Given the description of an element on the screen output the (x, y) to click on. 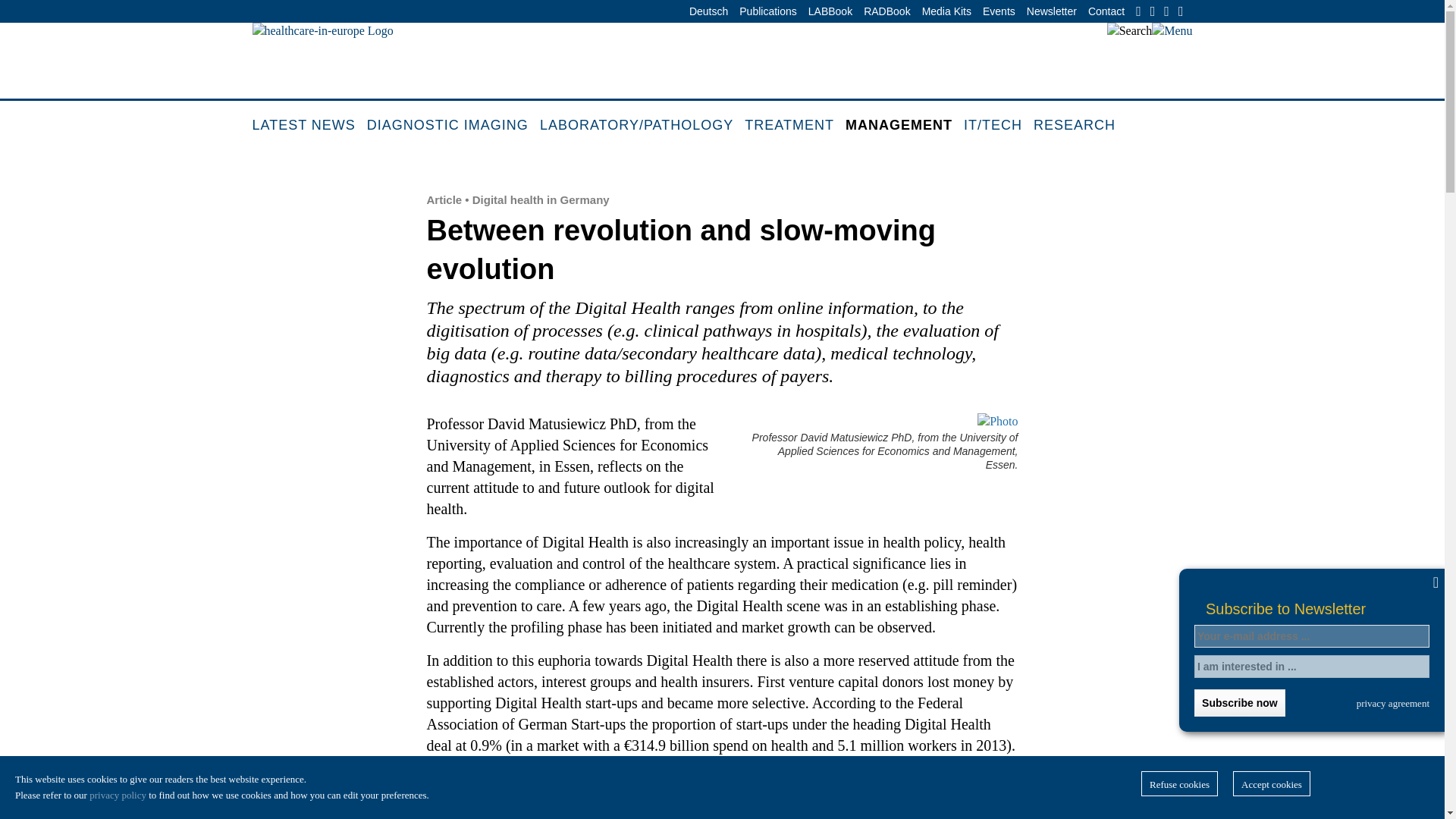
TREATMENT (794, 126)
Media Kits (946, 12)
Contact (1106, 12)
Twitter-Feed (1155, 11)
Vimeo-Kanal (1168, 11)
RESEARCH (1079, 126)
MANAGEMENT (904, 126)
Newsletter (1051, 12)
Publications (767, 12)
Deutsch (708, 12)
privacy agreement (1392, 703)
Events (998, 12)
LATEST NEWS (308, 126)
RADBook (887, 12)
